Given the description of an element on the screen output the (x, y) to click on. 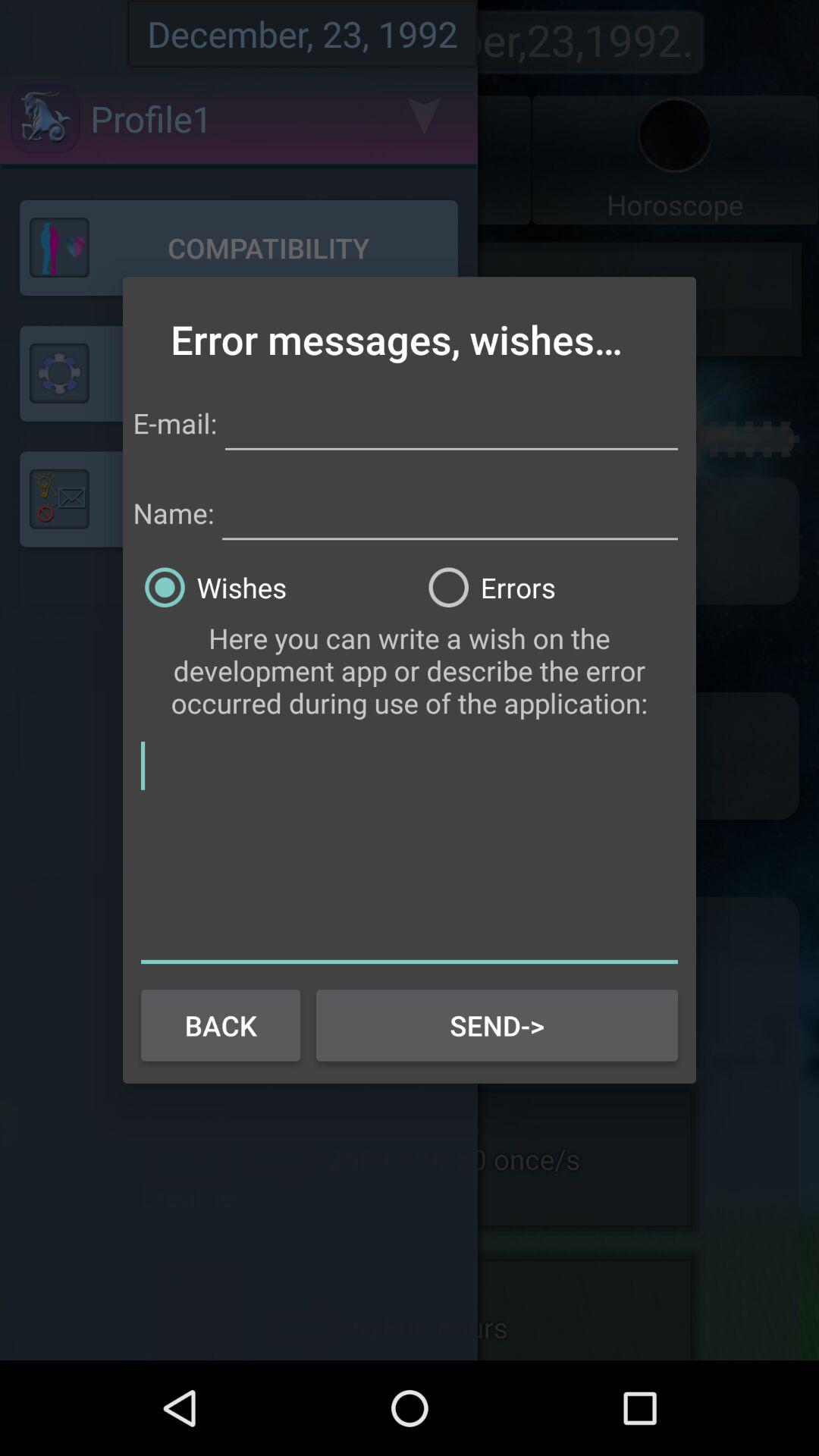
enter name (449, 510)
